Given the description of an element on the screen output the (x, y) to click on. 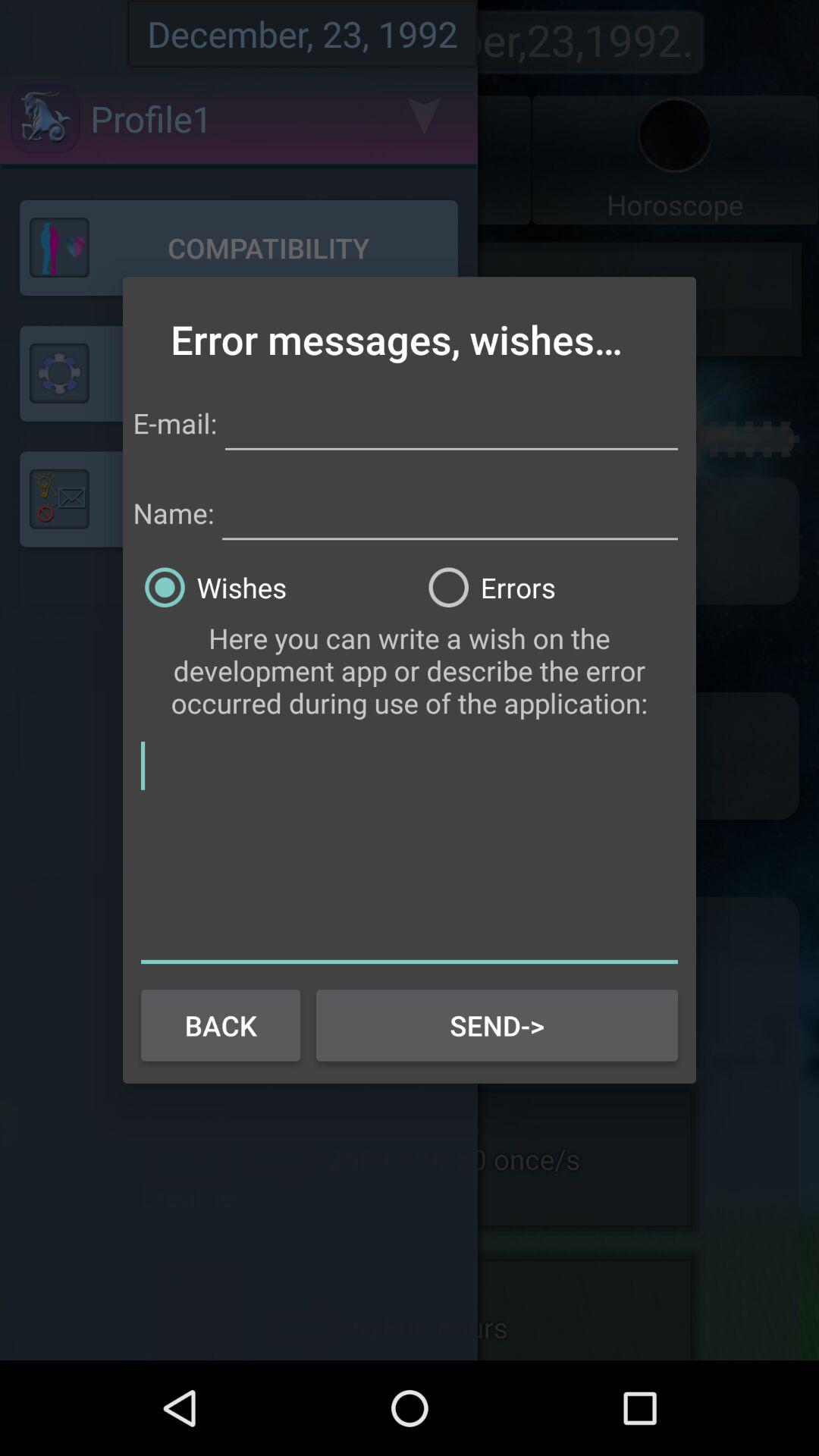
enter name (449, 510)
